Given the description of an element on the screen output the (x, y) to click on. 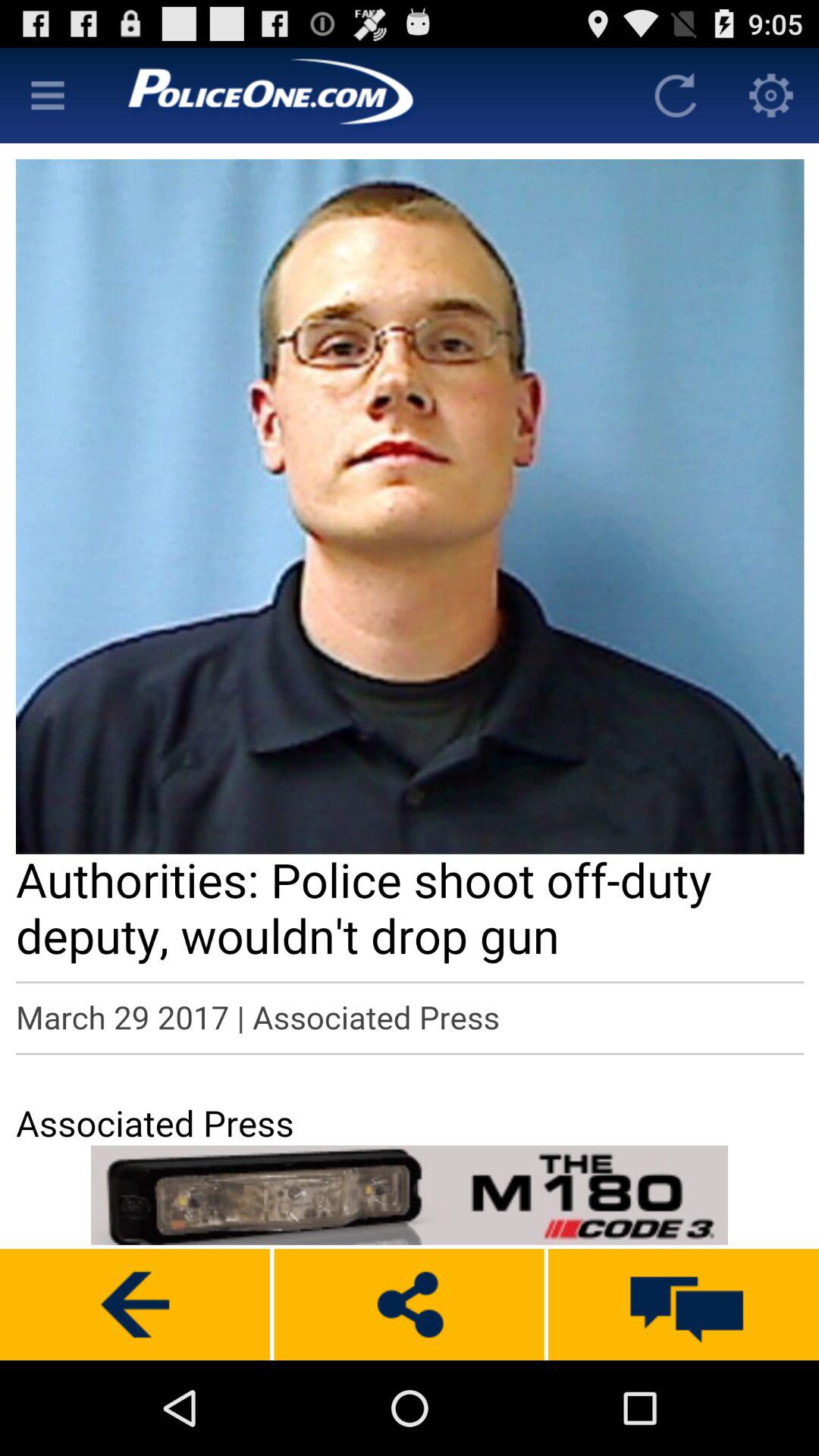
share information (409, 1304)
